Given the description of an element on the screen output the (x, y) to click on. 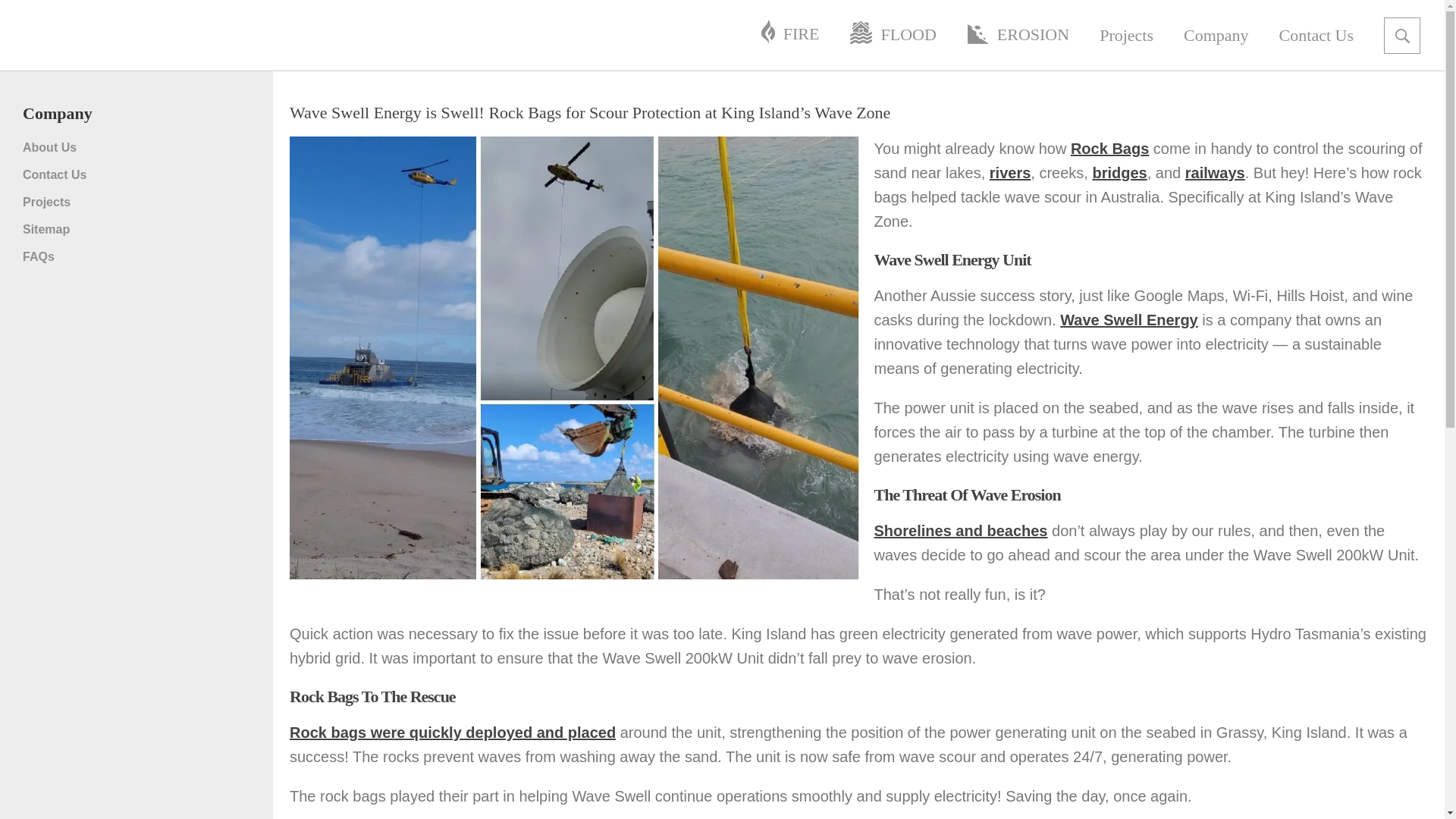
Rock Bags (1109, 148)
railways (1214, 172)
EROSION (1017, 35)
FLOOD (892, 34)
bridges (1119, 172)
Company (1216, 35)
Wave Swell Energy (1128, 320)
rivers (1010, 172)
logo (155, 35)
Rock bags were quickly deployed and placed (452, 732)
